Given the description of an element on the screen output the (x, y) to click on. 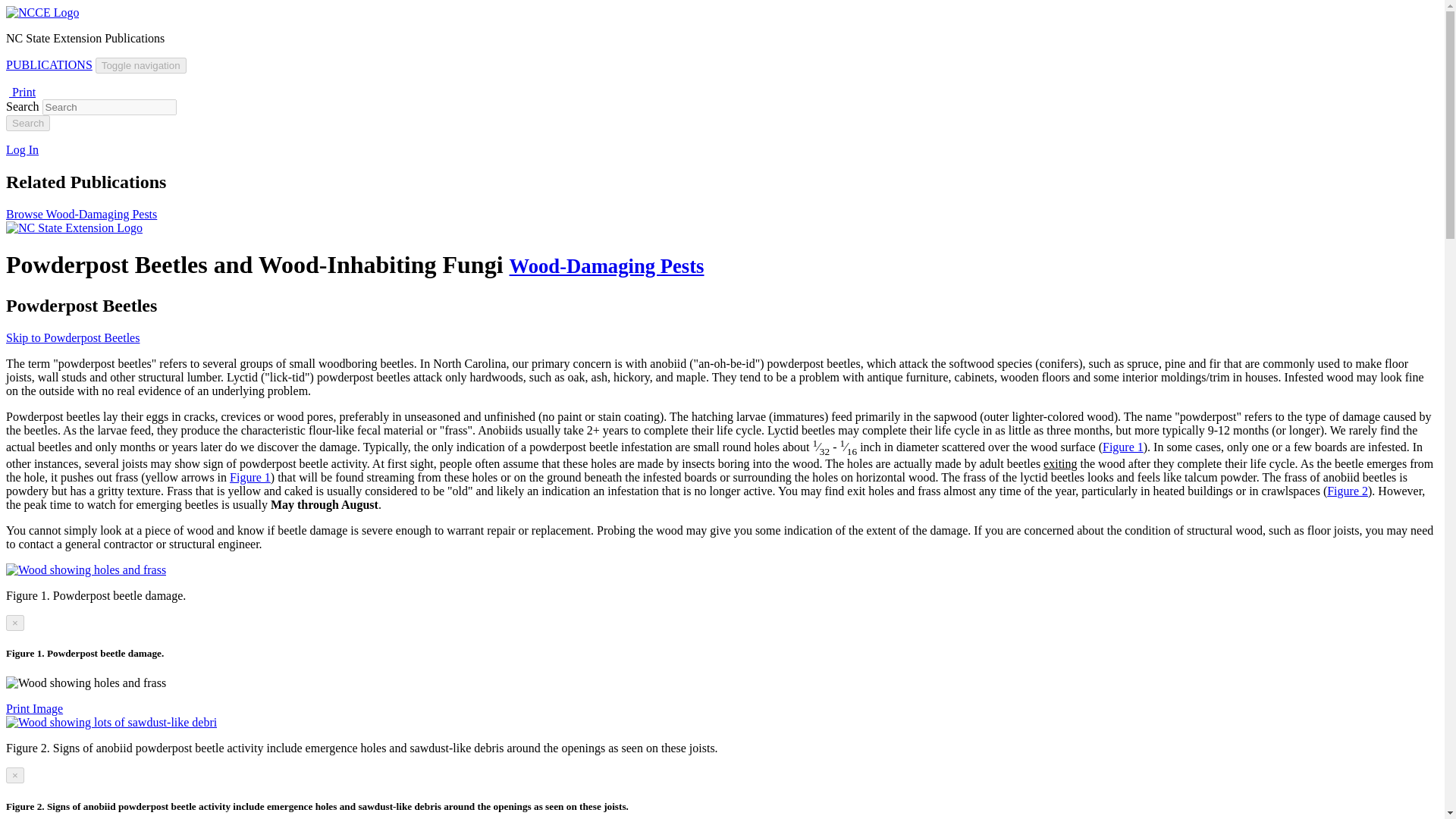
Wood-Damaging Pests (606, 265)
Browse Wood-Damaging Pests publications (81, 214)
PUBLICATIONS (49, 64)
Browse Wood-Damaging Pests publications (606, 265)
Skip to Powderpost Beetles (72, 337)
Figure 1 (1122, 446)
Print Image (33, 707)
Figure 1 (250, 477)
Browse Wood-Damaging Pests (81, 214)
Figure 2 (1347, 490)
